Given the description of an element on the screen output the (x, y) to click on. 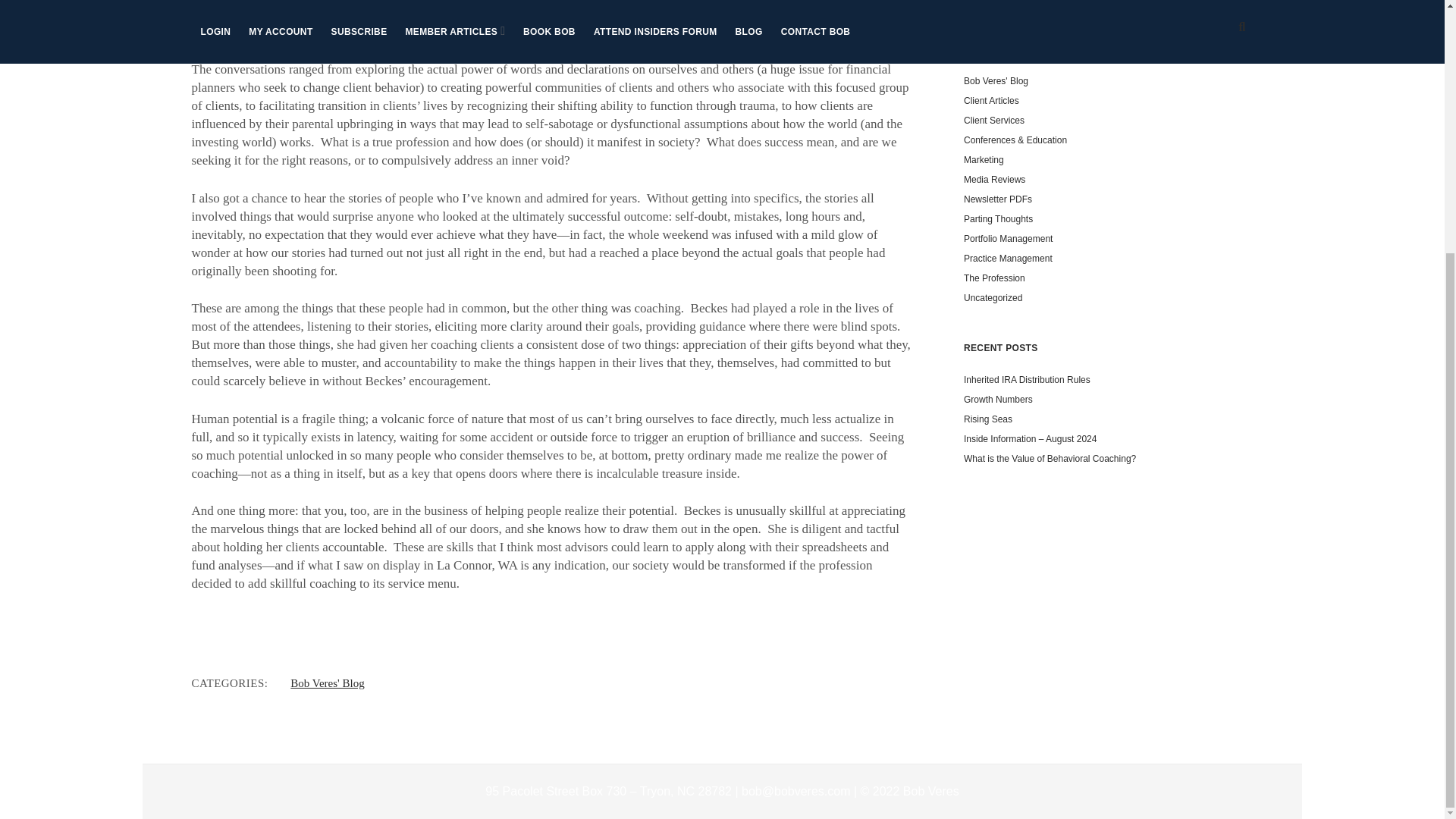
Client Articles (991, 100)
Media Reviews (994, 179)
Portfolio Management (1007, 238)
Lost Password (993, 2)
Bob Veres' Blog (995, 81)
Practice Management (1007, 258)
Newsletter PDFs (997, 199)
Uncategorized (992, 297)
Client Services (994, 120)
Parting Thoughts (997, 218)
Marketing (983, 159)
The Profession (994, 277)
Bob Veres' Blog (326, 683)
View all posts in Bob Veres' Blog (326, 683)
